Given the description of an element on the screen output the (x, y) to click on. 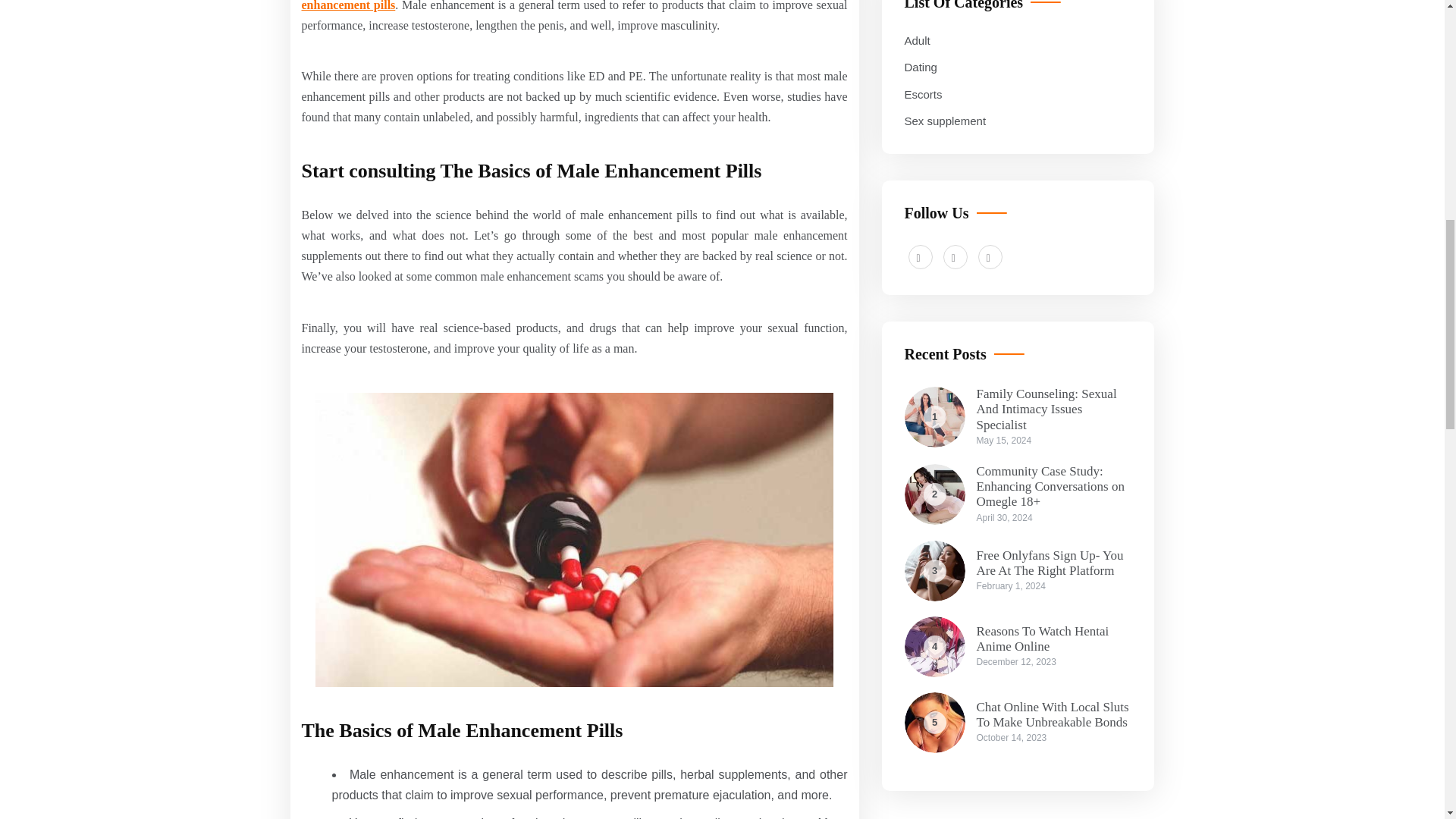
best male enhancement pills (574, 5)
